Given the description of an element on the screen output the (x, y) to click on. 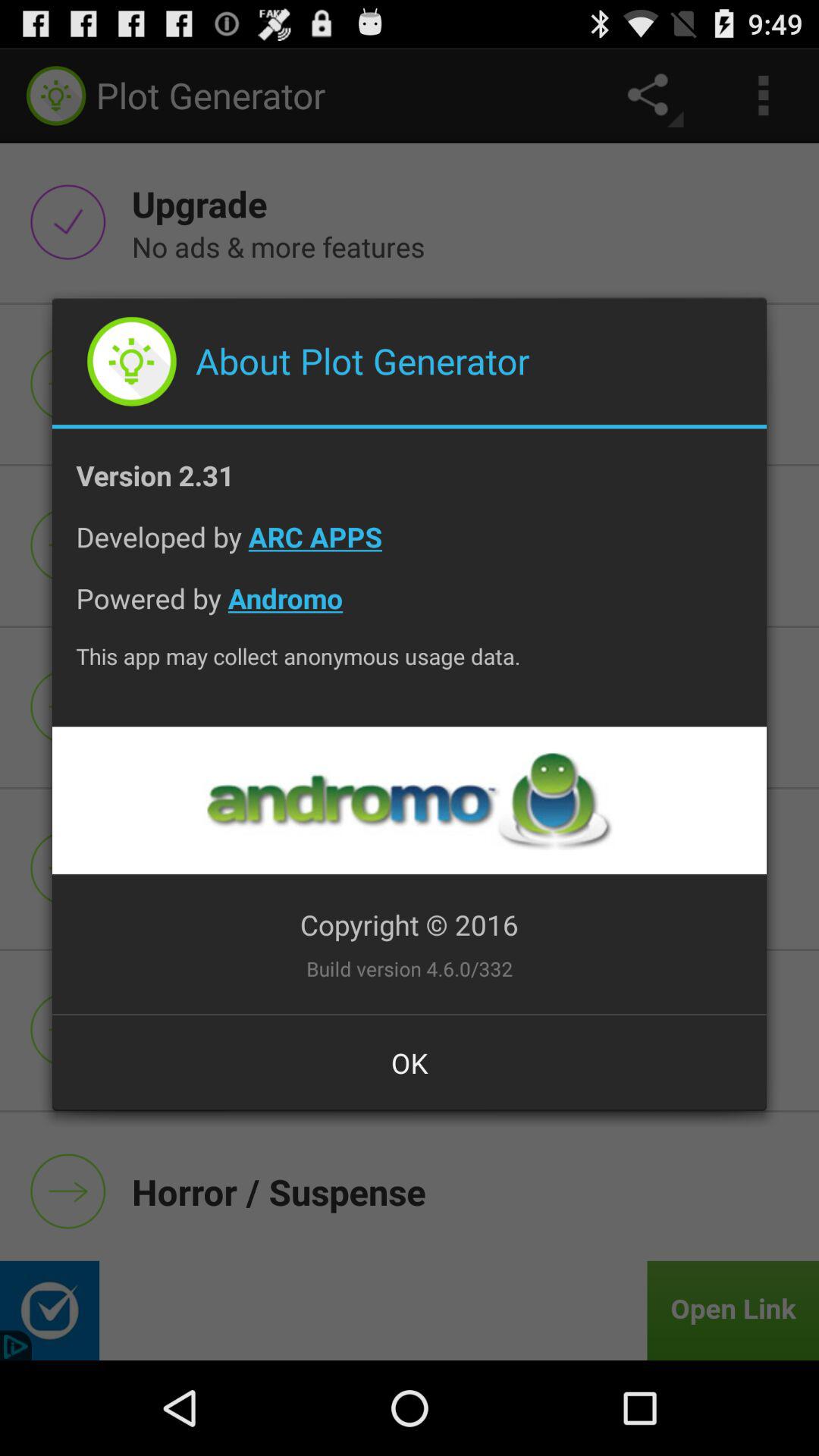
click the powered by andromo icon (409, 609)
